Given the description of an element on the screen output the (x, y) to click on. 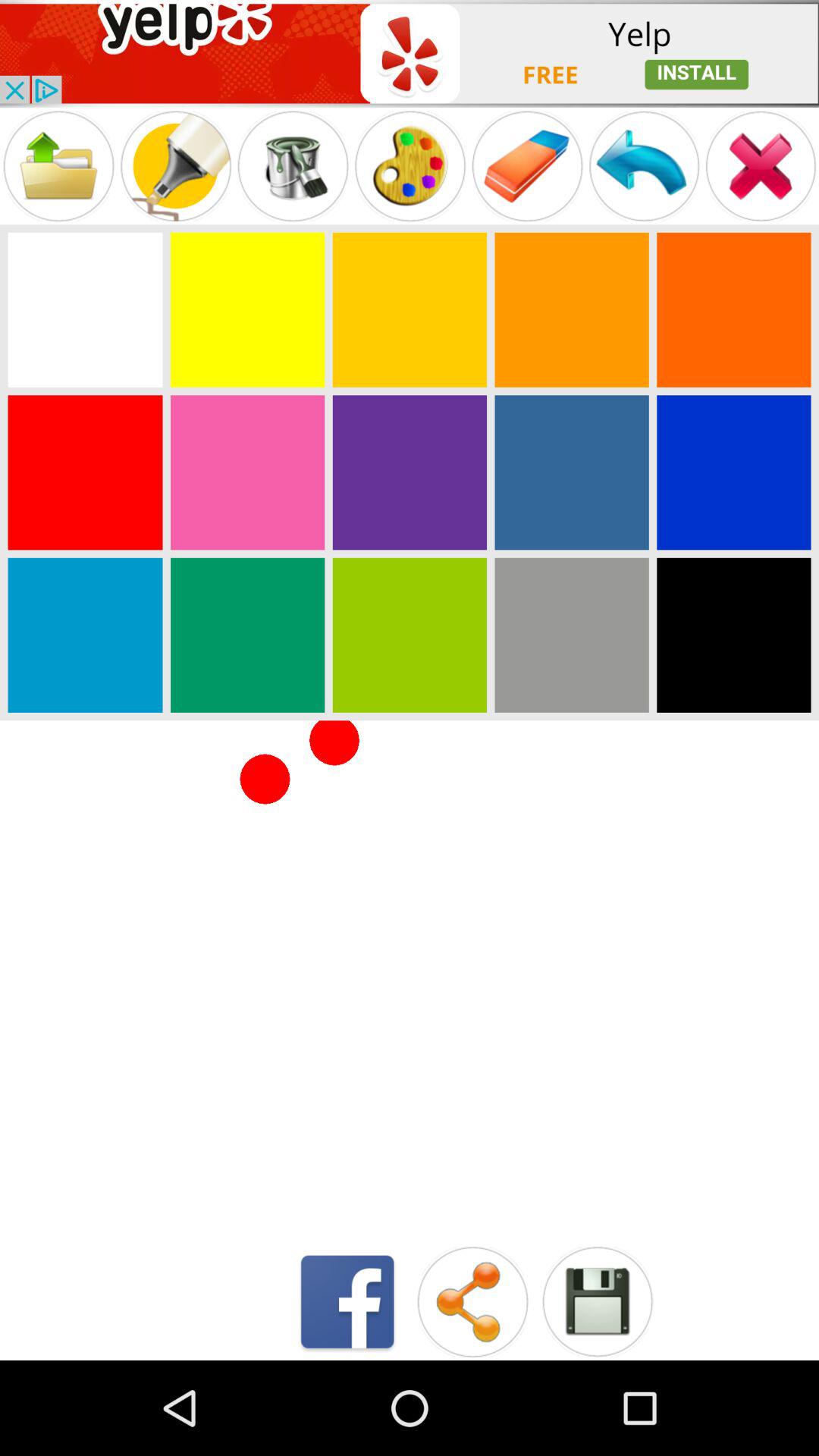
select color (571, 472)
